Given the description of an element on the screen output the (x, y) to click on. 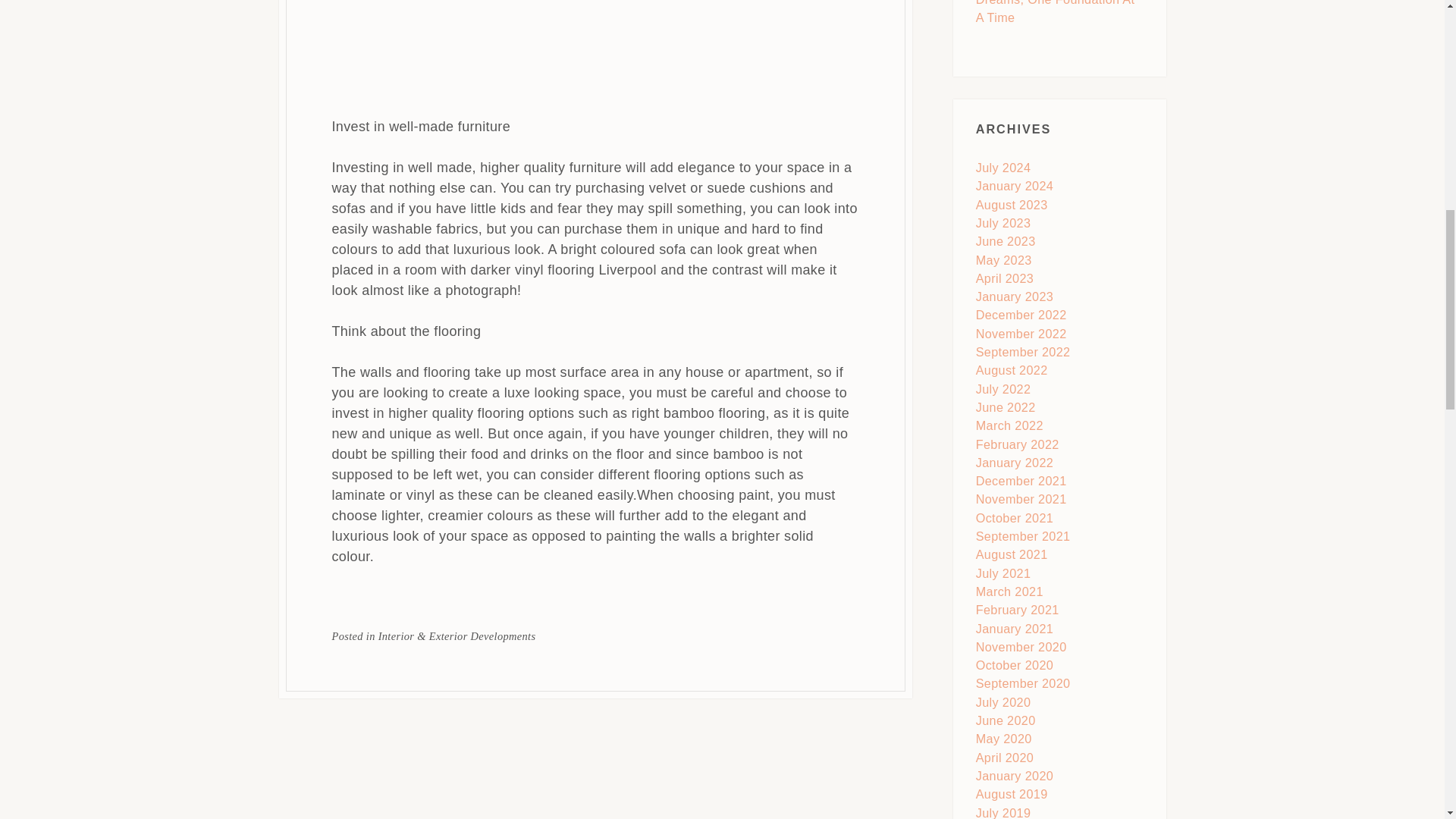
July 2023 (1002, 223)
September 2022 (1022, 351)
October 2021 (1013, 517)
January 2023 (1013, 296)
August 2022 (1011, 369)
July 2021 (1002, 572)
November 2021 (1021, 499)
July 2022 (1002, 388)
bamboo.jpg (595, 48)
November 2022 (1021, 333)
